Given the description of an element on the screen output the (x, y) to click on. 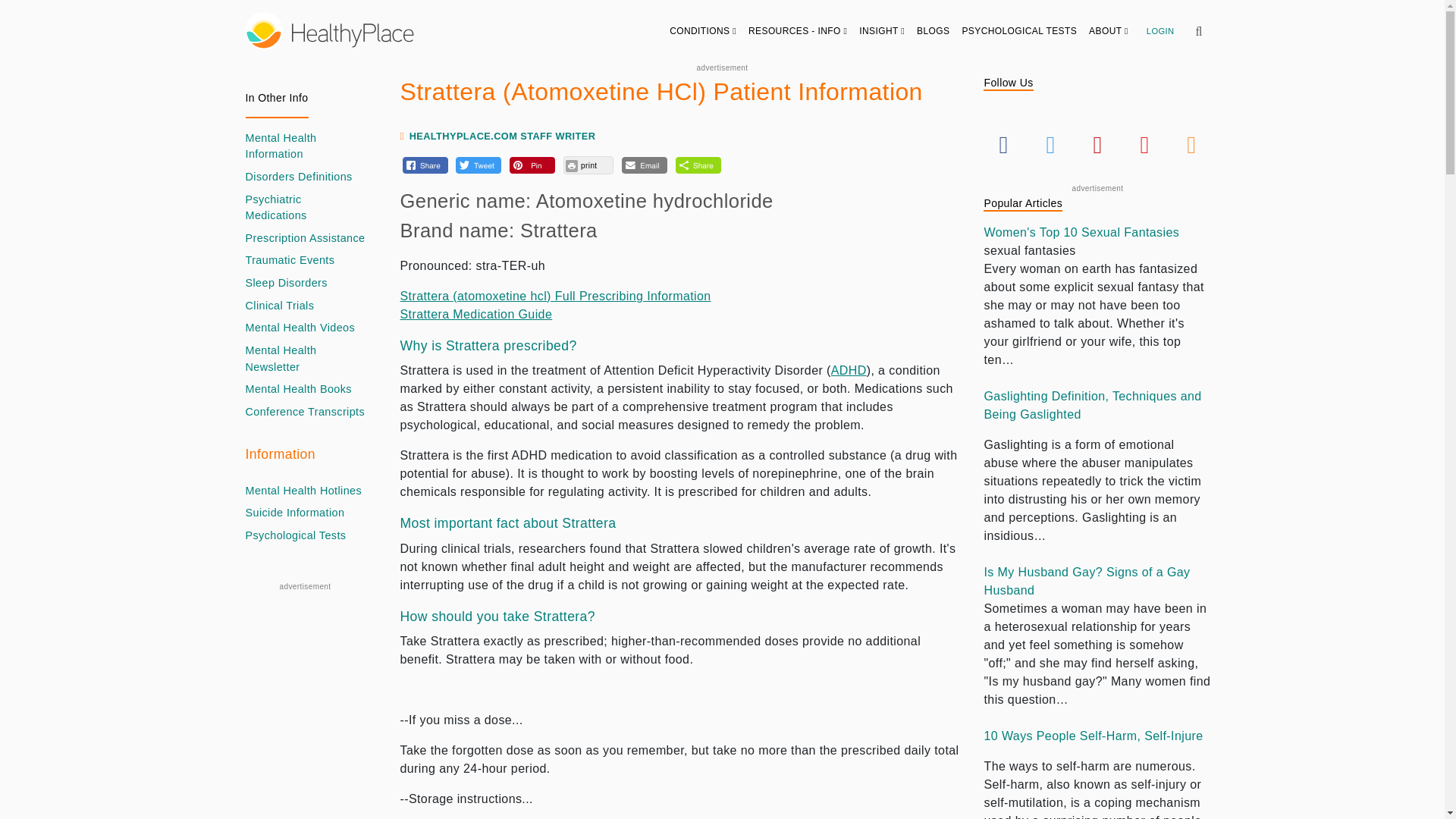
RESOURCES - INFO (797, 31)
Learn about All Mental Health Disorders (299, 176)
Mental Health Hotline Numbers and Referral Resources (304, 491)
Free or Low-Cost Prescription Medication Assistance (305, 238)
Traumatic Events and How to Cope (290, 260)
Helpful Books on Mental Health (299, 389)
Watch Mental Health Videos (300, 328)
Weekly HealthyPlace Mental Health Newsletter (305, 359)
Psychiatric Medications: Uses, Dosage, Side-effects (305, 207)
